Given the description of an element on the screen output the (x, y) to click on. 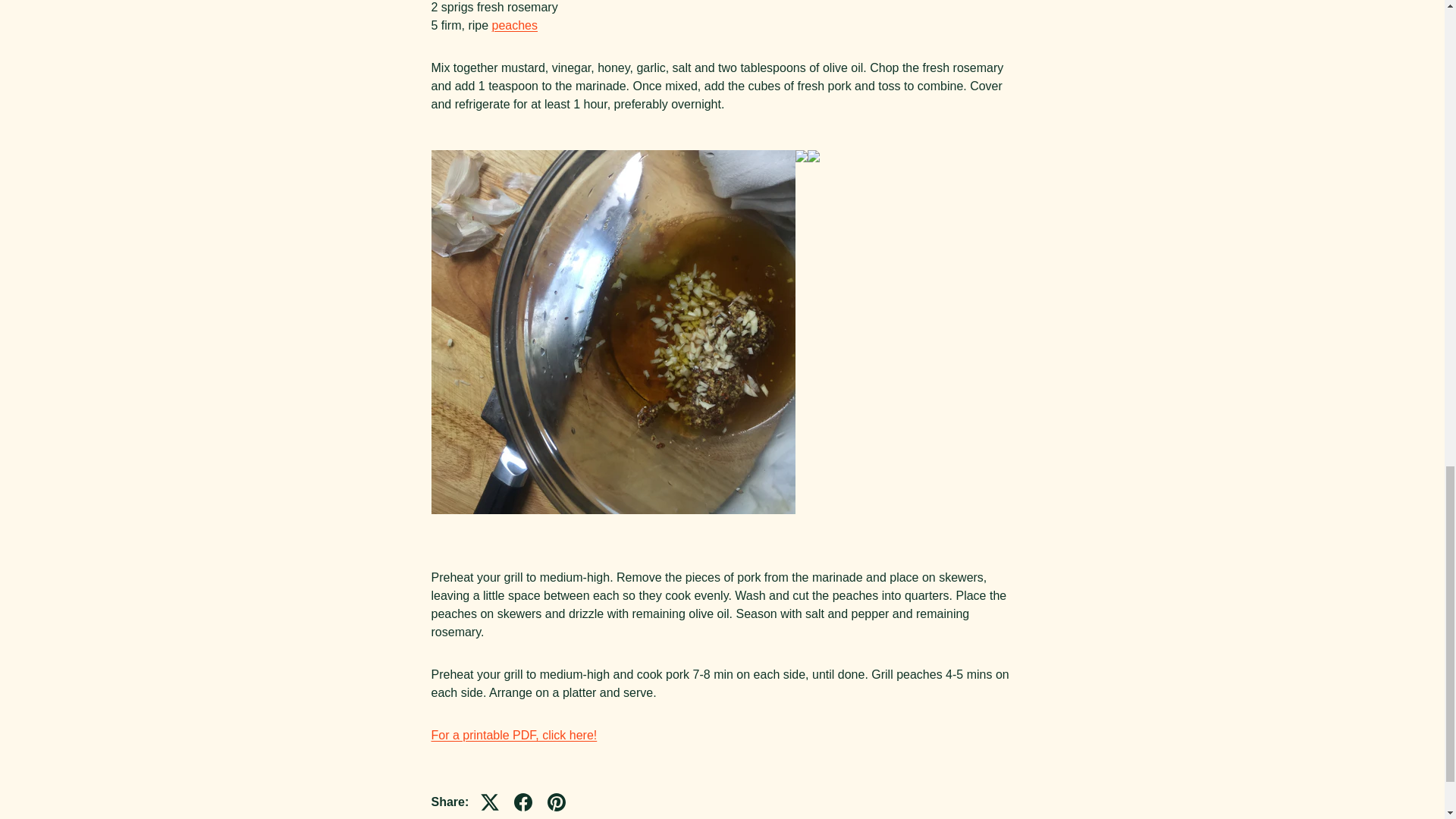
peaches (515, 24)
For a printable PDF, click here! (513, 735)
